Given the description of an element on the screen output the (x, y) to click on. 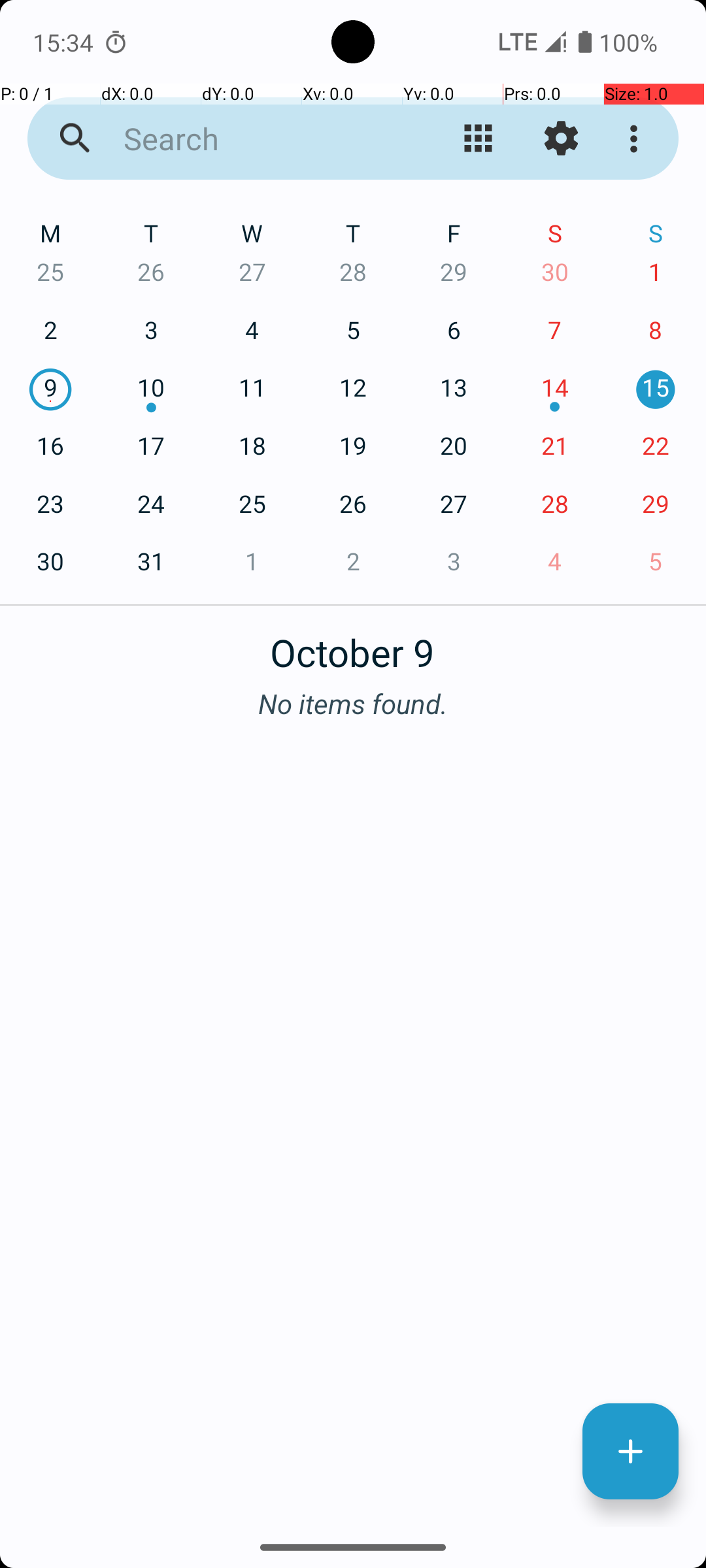
October 9 Element type: android.widget.TextView (352, 644)
